Given the description of an element on the screen output the (x, y) to click on. 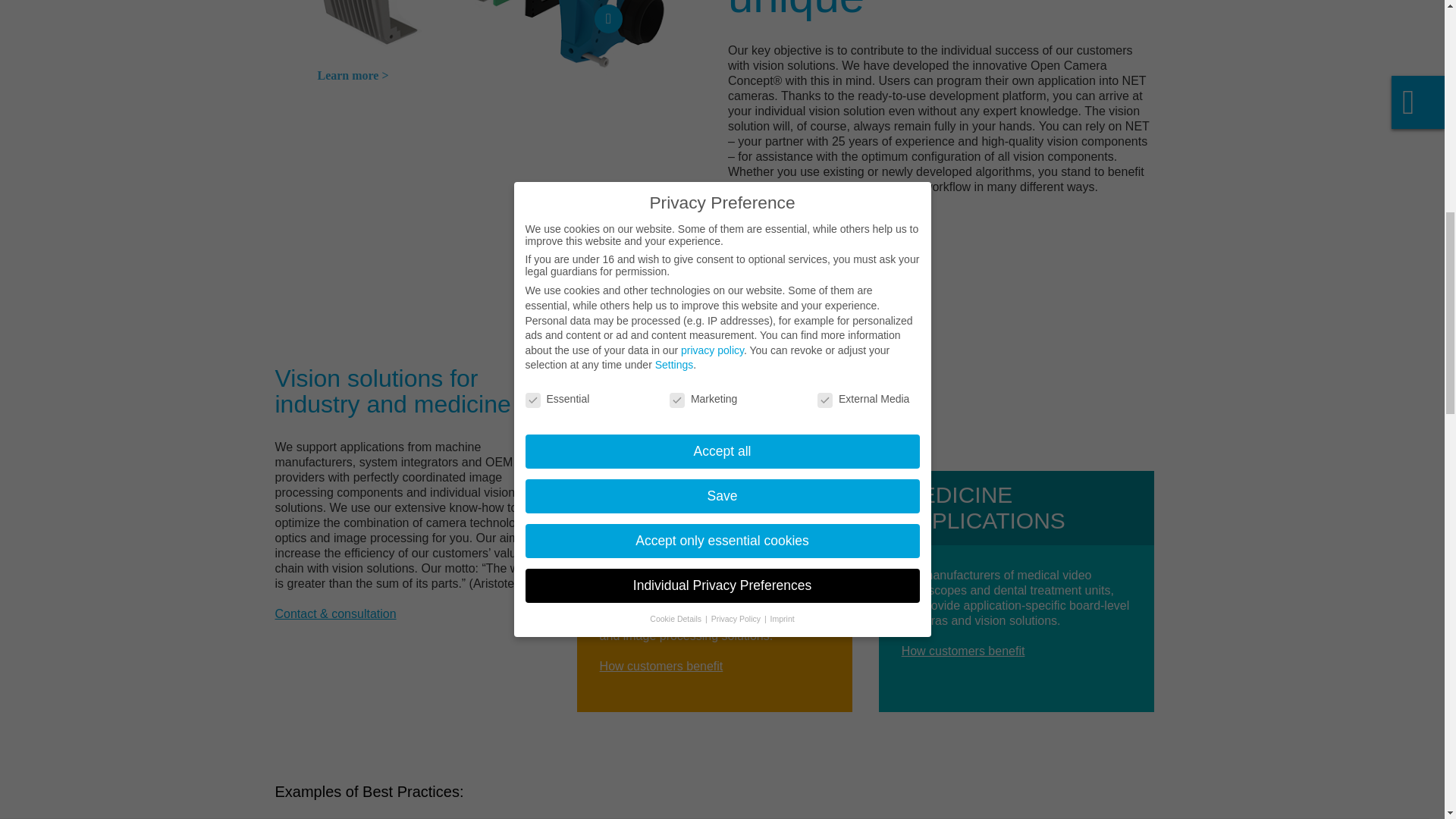
industrie-visionloesungen (713, 393)
medizin-visionloesungen (1016, 393)
